Given the description of an element on the screen output the (x, y) to click on. 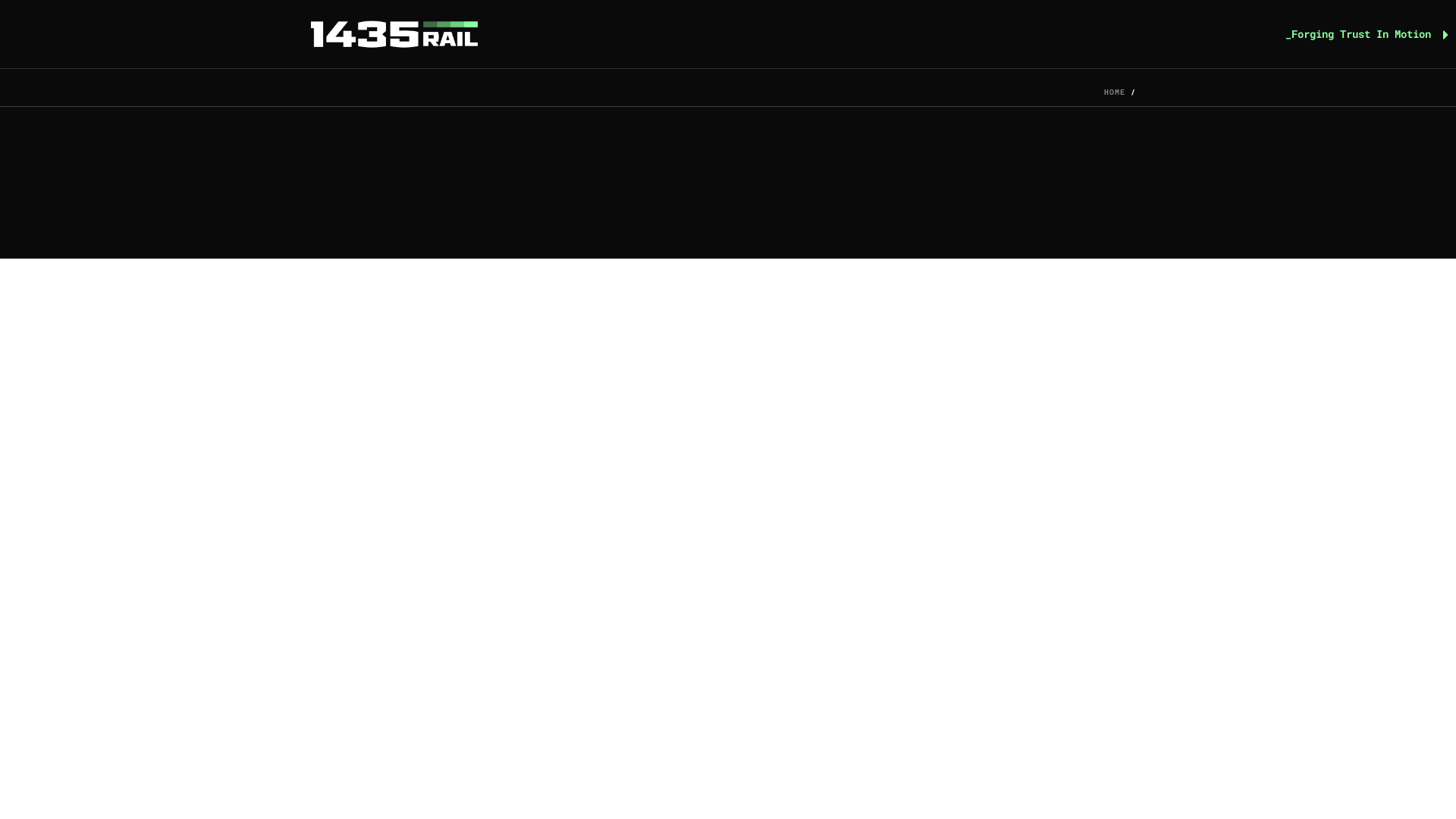
Forging Trust In Motion Element type: hover (393, 34)
HOME Element type: text (1114, 92)
_Forging Trust In Motion Element type: text (1366, 34)
